Given the description of an element on the screen output the (x, y) to click on. 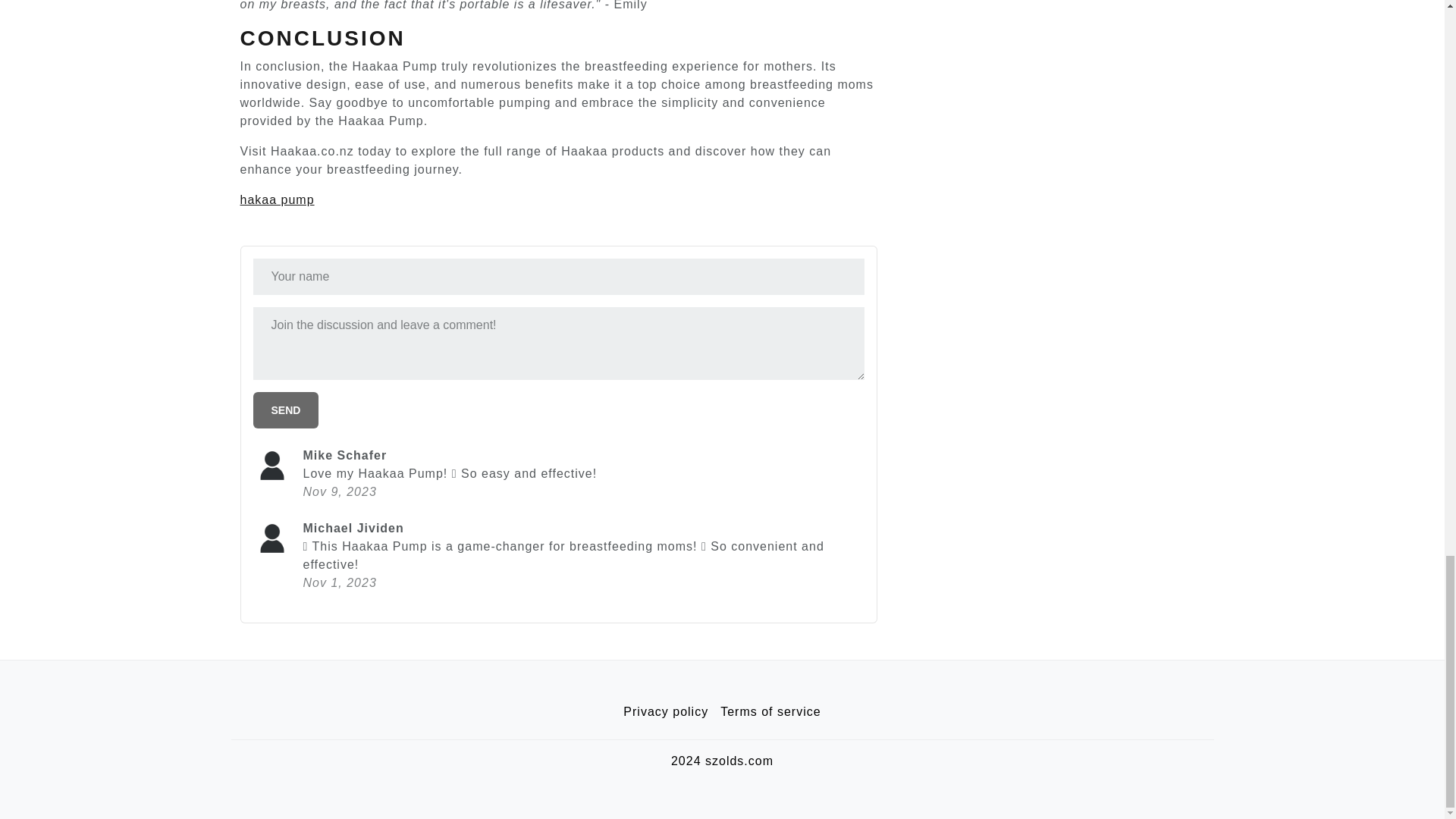
Privacy policy (665, 711)
Send (285, 410)
Terms of service (770, 711)
Send (285, 410)
hakaa pump (277, 199)
